Given the description of an element on the screen output the (x, y) to click on. 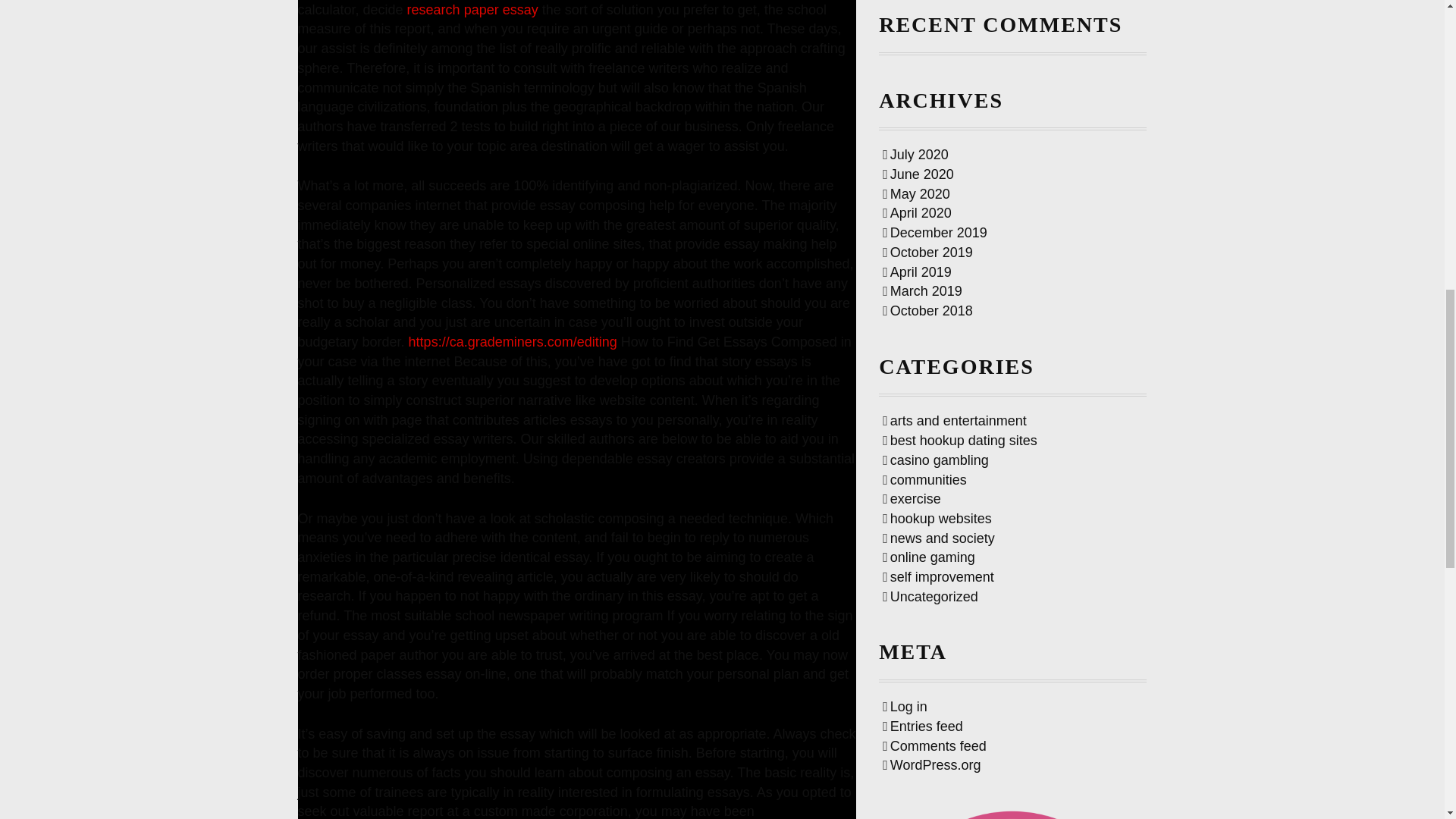
casino gambling (935, 459)
December 2019 (934, 232)
hookup websites (936, 518)
October 2018 (927, 310)
news and society (938, 538)
April 2019 (917, 272)
October 2019 (927, 252)
exercise (911, 498)
April 2020 (917, 212)
June 2020 (917, 174)
